Given the description of an element on the screen output the (x, y) to click on. 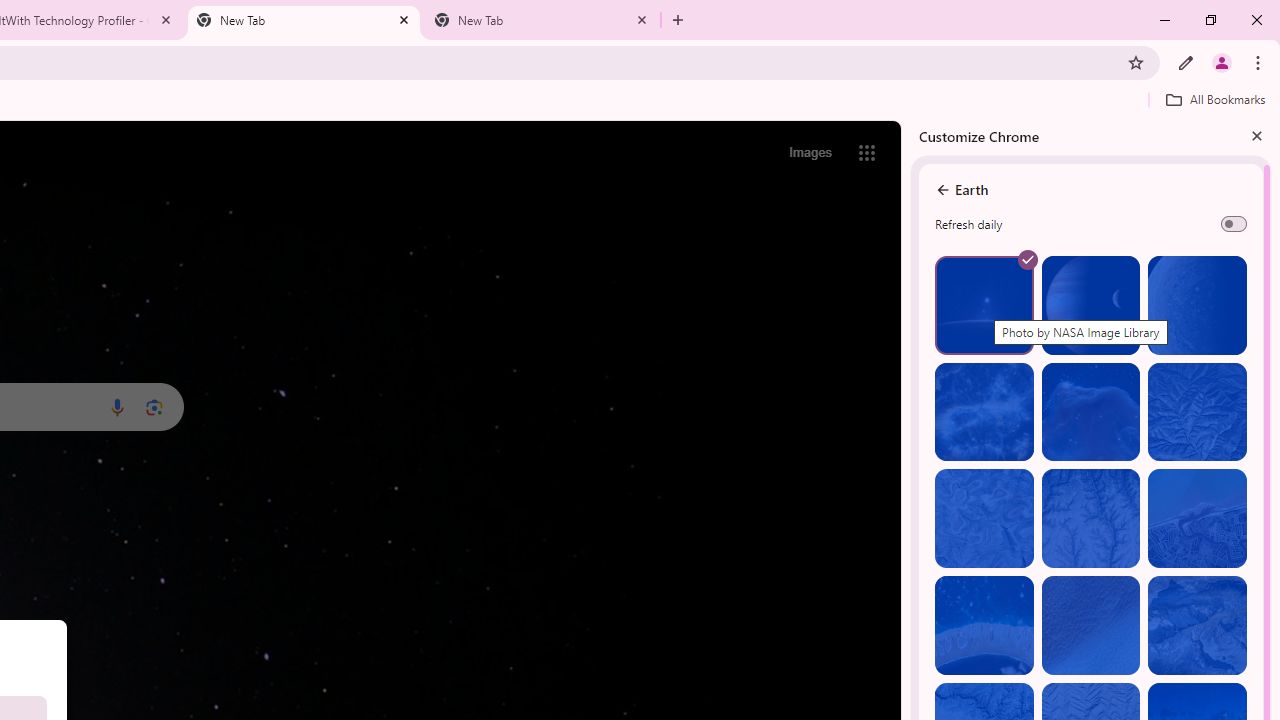
Sanaag, Somalia (1090, 518)
Trarza, Mauritania (1090, 625)
